Given the description of an element on the screen output the (x, y) to click on. 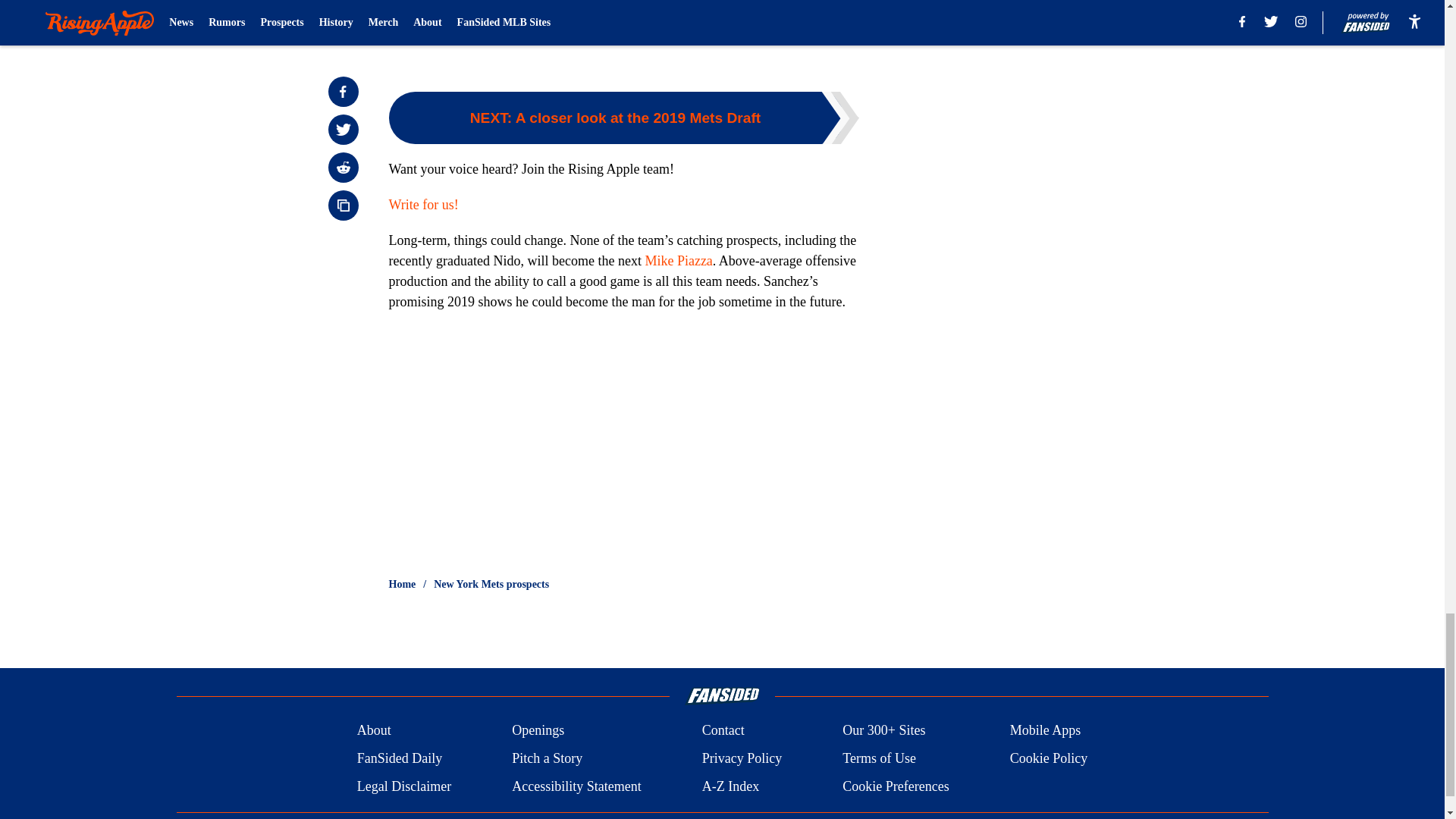
Write for us! (423, 204)
NEXT: A closer look at the 2019 Mets Draft (623, 117)
Home (401, 584)
Mike Piazza (678, 260)
